Given the description of an element on the screen output the (x, y) to click on. 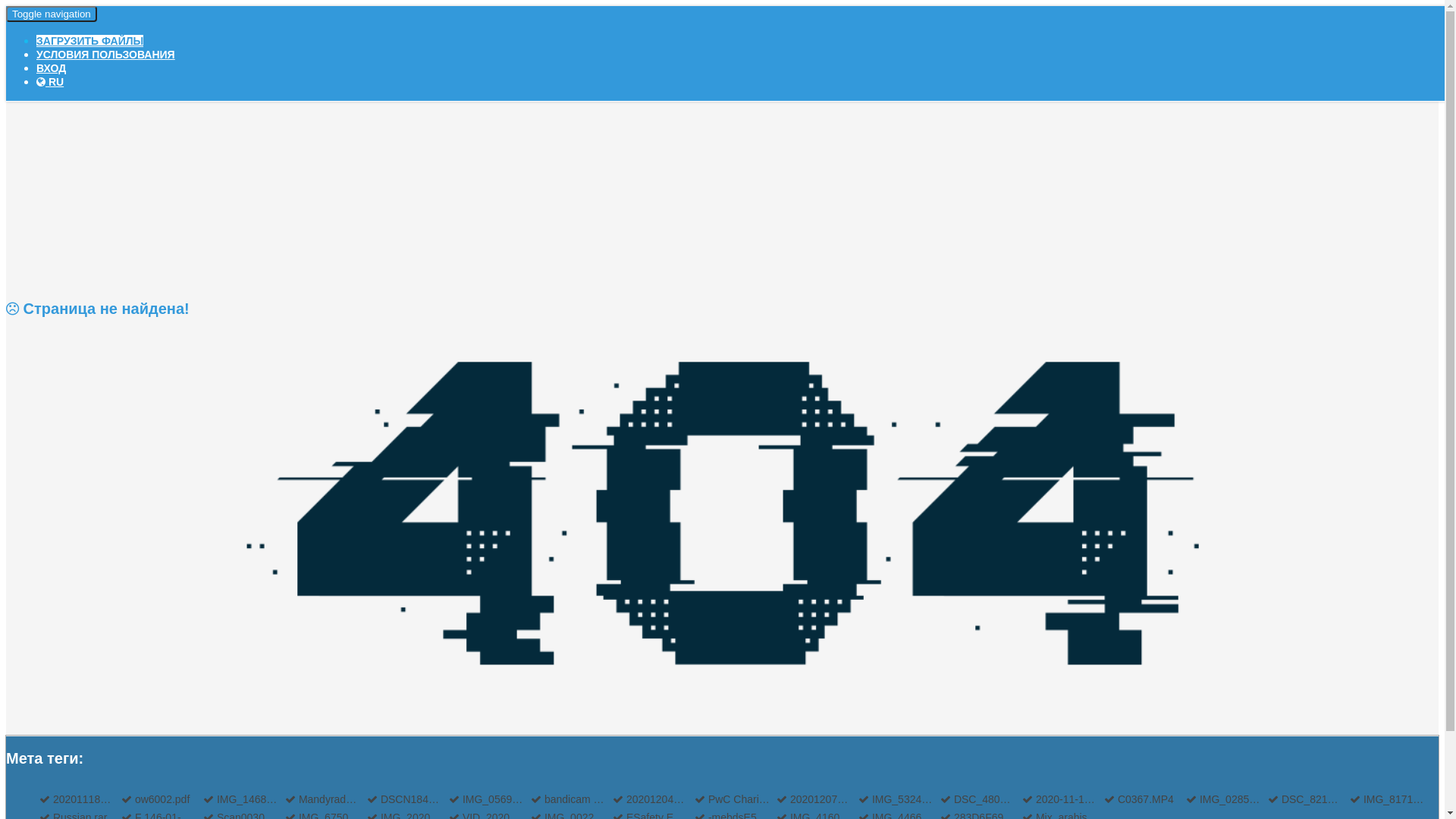
Advertisement Element type: hover (721, 165)
RU Element type: text (49, 81)
Toggle navigation Element type: text (51, 13)
